Given the description of an element on the screen output the (x, y) to click on. 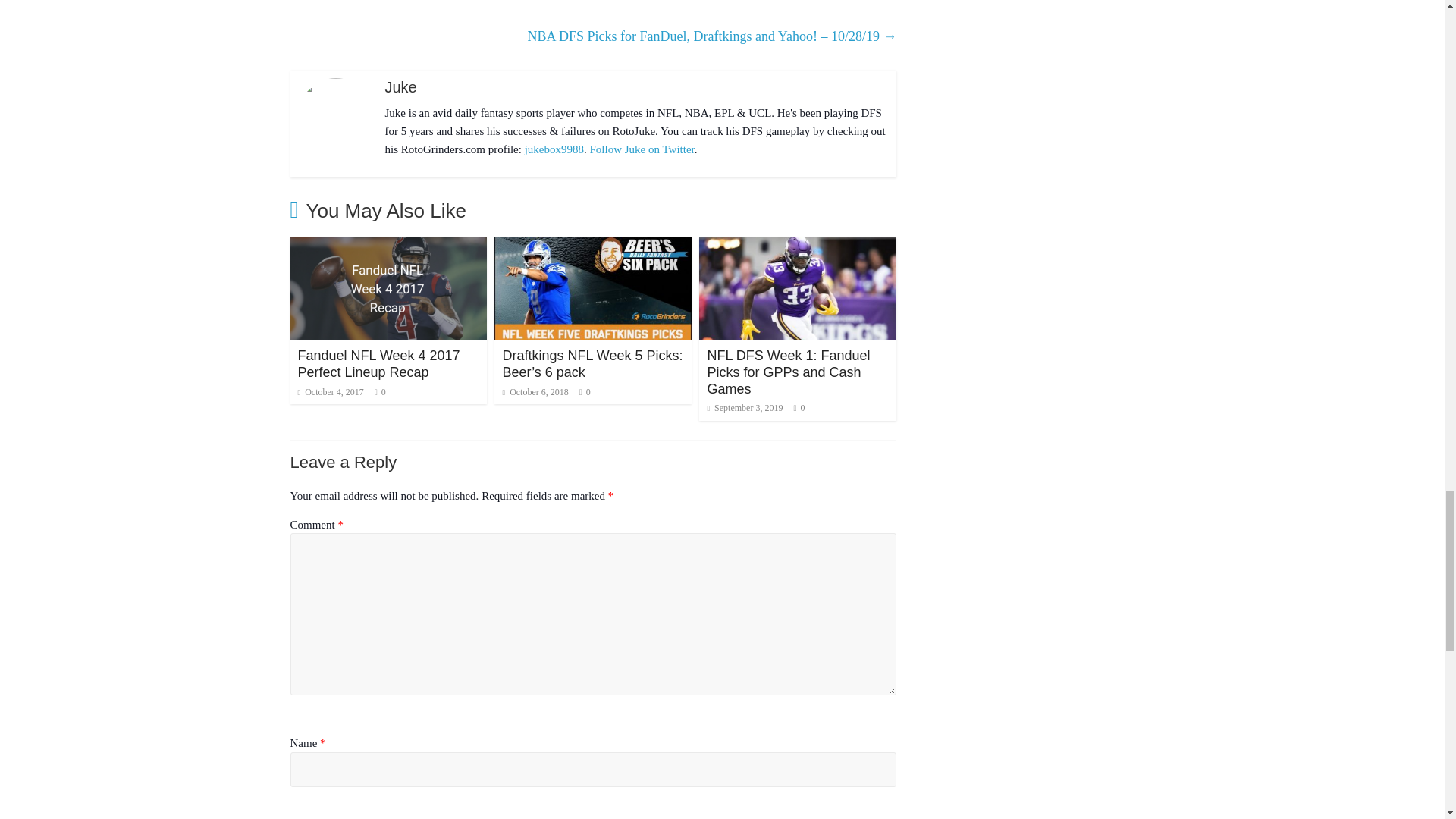
NFL DFS Week 1: Fanduel Picks for GPPs and Cash Games (787, 371)
Fanduel NFL Week 4 2017 Perfect Lineup Recap (378, 364)
9:44 am (329, 391)
1:46 am (534, 391)
6:52 am (744, 407)
Fanduel NFL Week 4 2017 Perfect Lineup Recap (387, 246)
NFL DFS Week 1: Fanduel Picks for GPPs and Cash Games (797, 246)
